Given the description of an element on the screen output the (x, y) to click on. 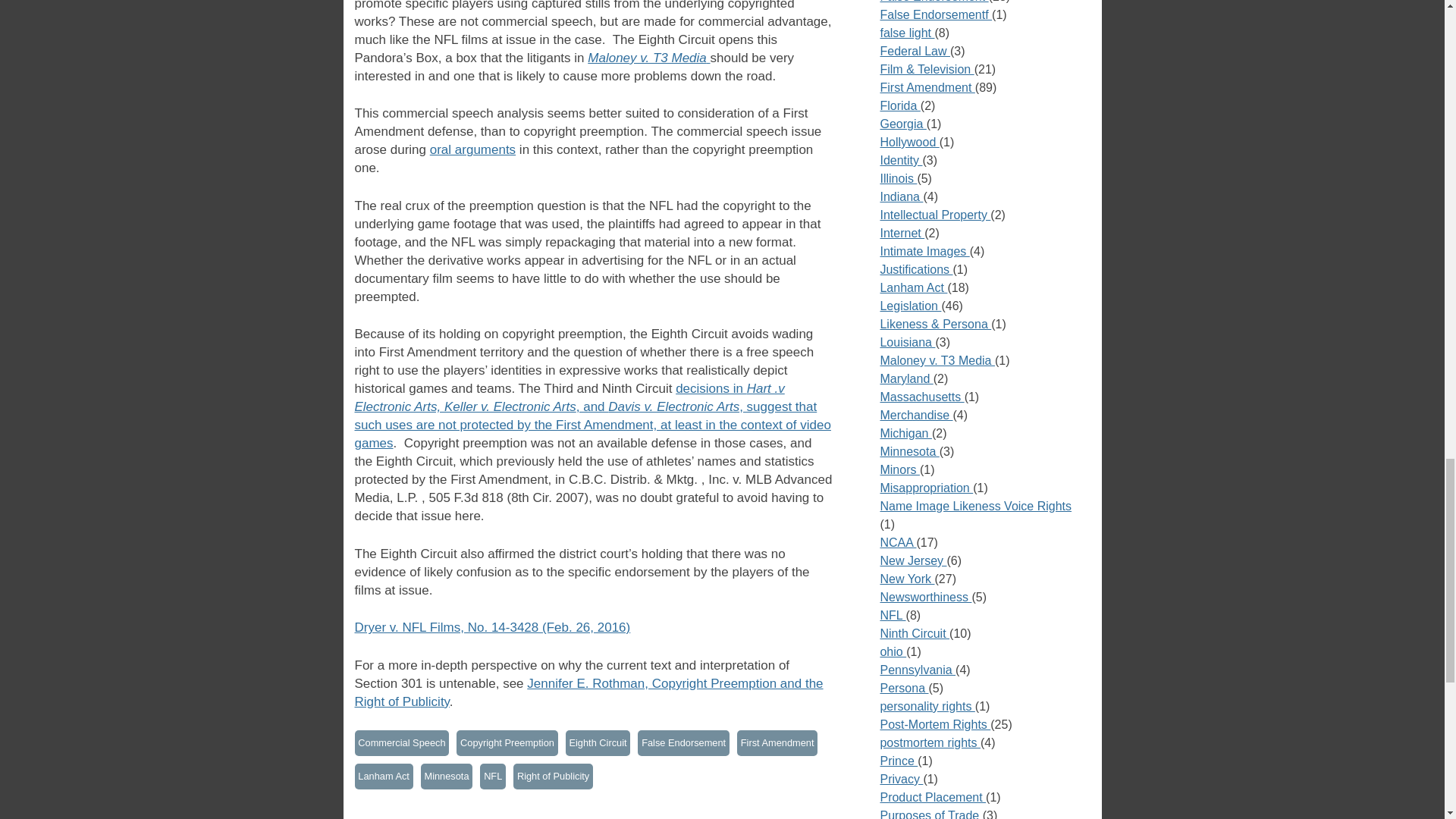
First Amendment (776, 742)
Right of Publicity (552, 776)
Eighth Circuit (598, 742)
Lanham Act (384, 776)
False Endorsement (683, 742)
Copyright Preemption (507, 742)
right of publicity dryer v nfl eighth circuit (492, 626)
Commercial Speech (402, 742)
oral arguments (472, 149)
